Given the description of an element on the screen output the (x, y) to click on. 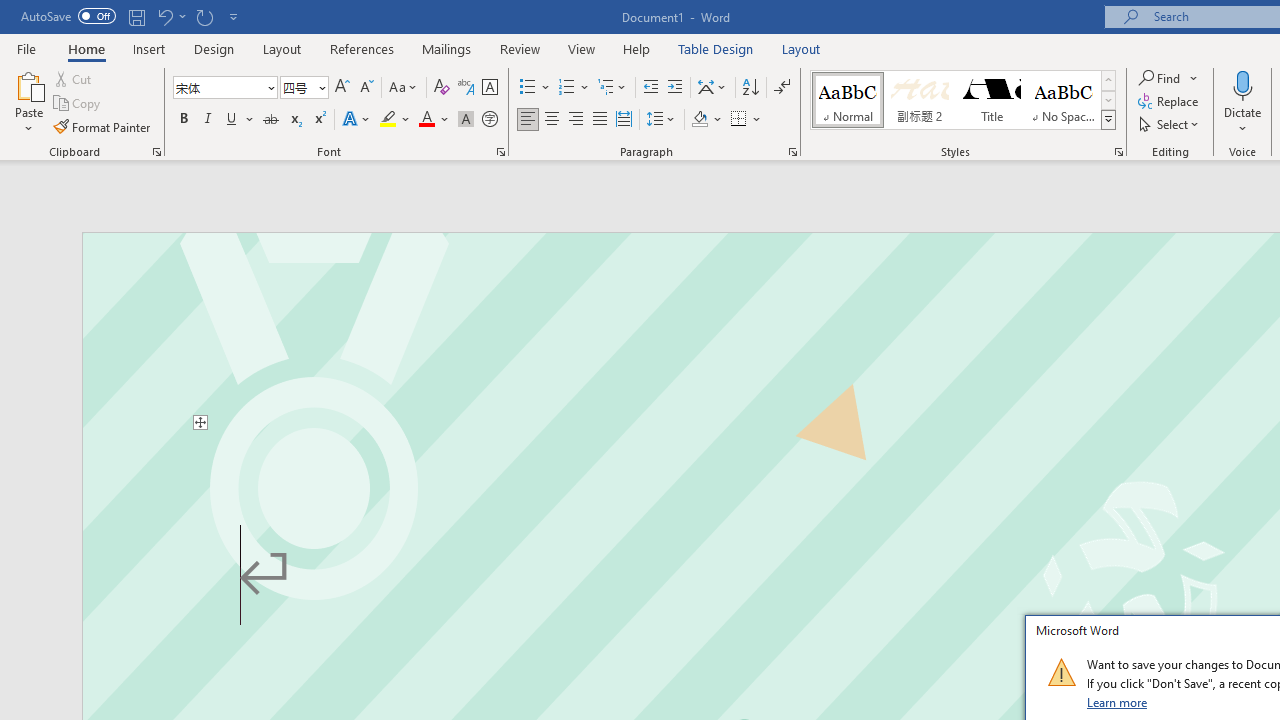
Font Color Red (426, 119)
